Given the description of an element on the screen output the (x, y) to click on. 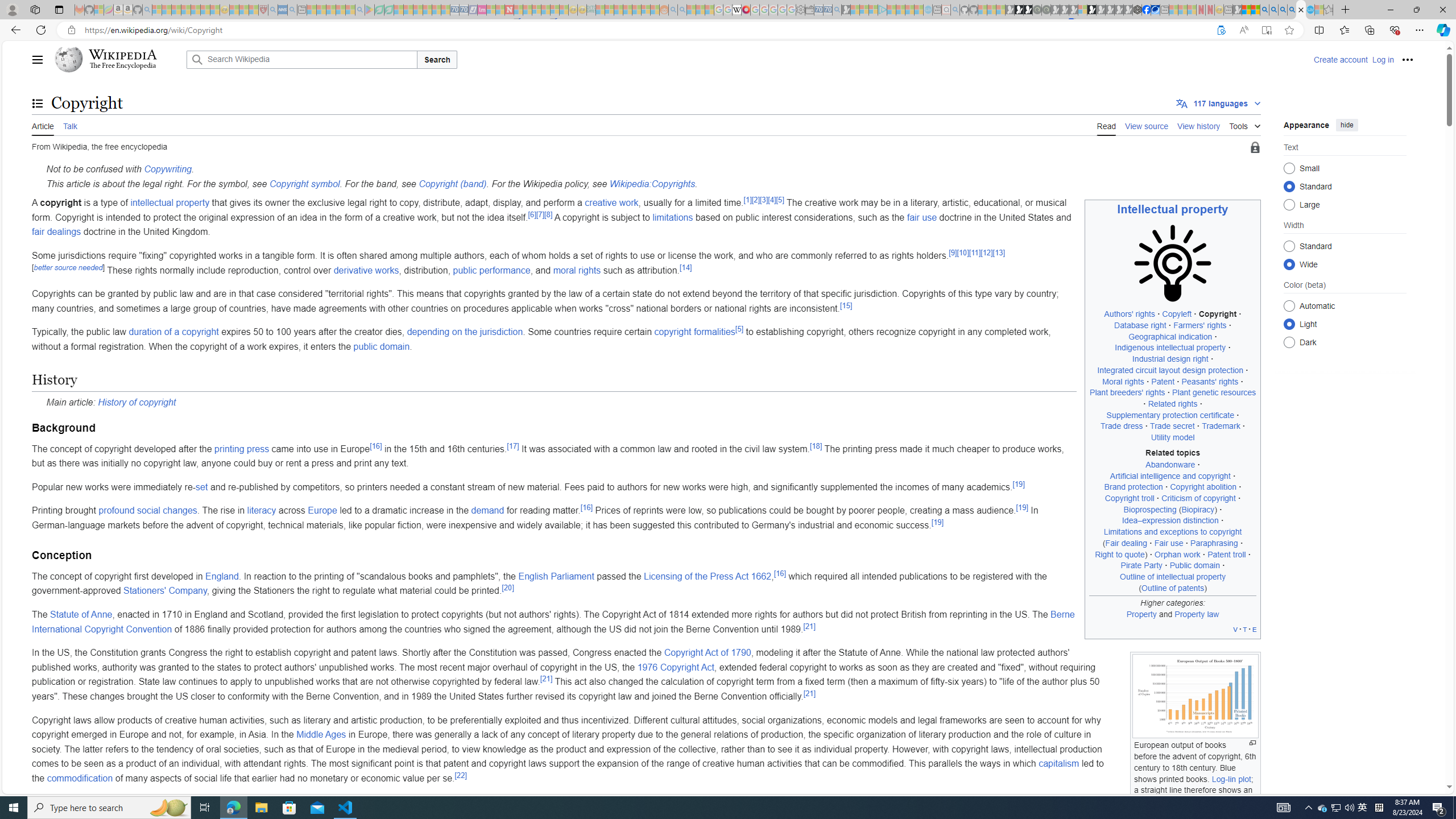
Fair dealing (1126, 542)
[16] (779, 573)
Copyright - Wikipedia (1300, 9)
MSNBC - MSN - Sleeping (600, 9)
Property law (1197, 614)
[1] (747, 198)
profound social changes (148, 510)
Wikipedia:Copyrights (651, 183)
Nordace - Cooler Bags (1137, 9)
